Given the description of an element on the screen output the (x, y) to click on. 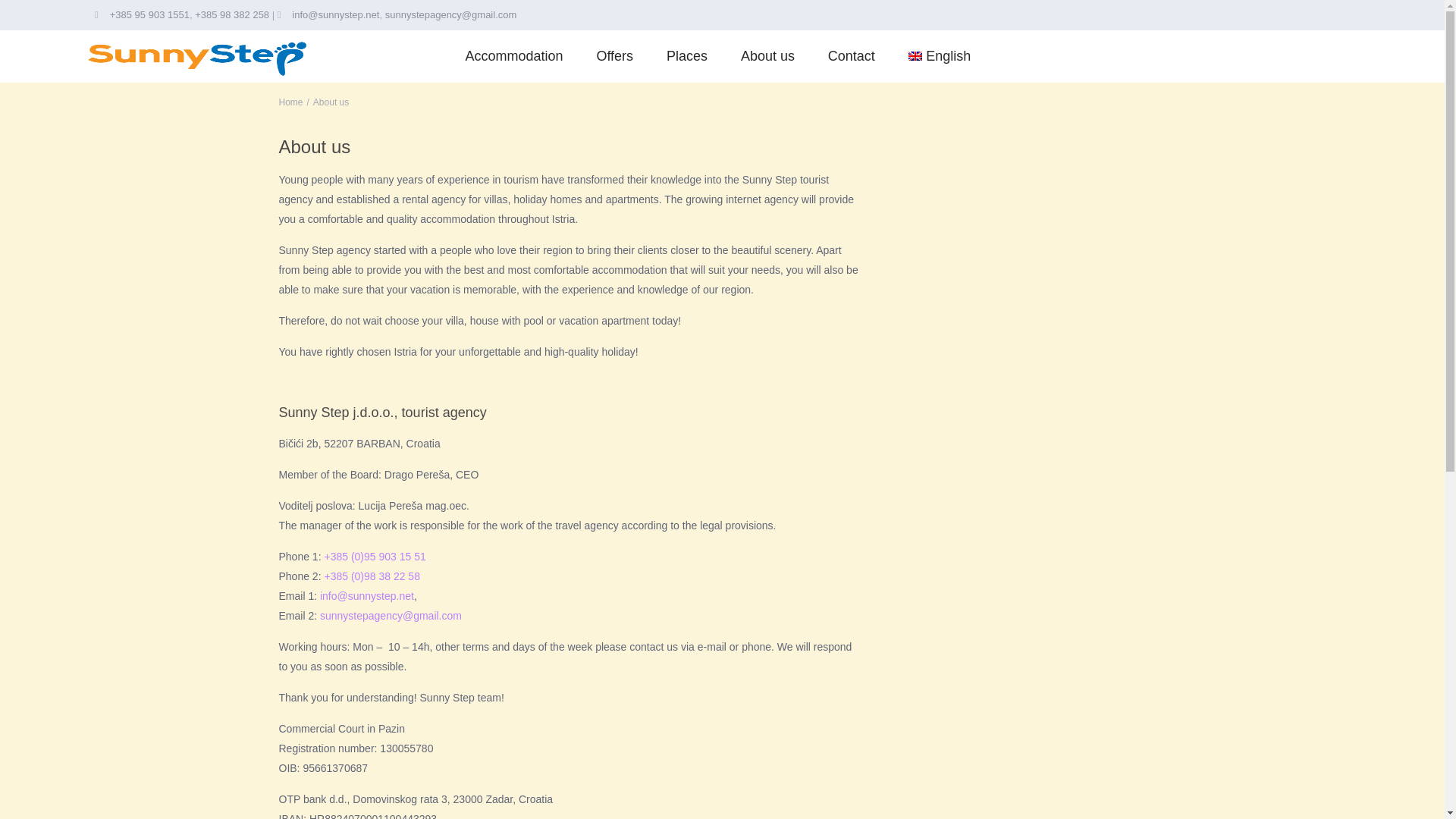
Accommodation (513, 55)
Places (686, 55)
Offers (613, 55)
English (939, 55)
English (939, 55)
Home (290, 102)
Contact (850, 55)
About us (767, 55)
